Given the description of an element on the screen output the (x, y) to click on. 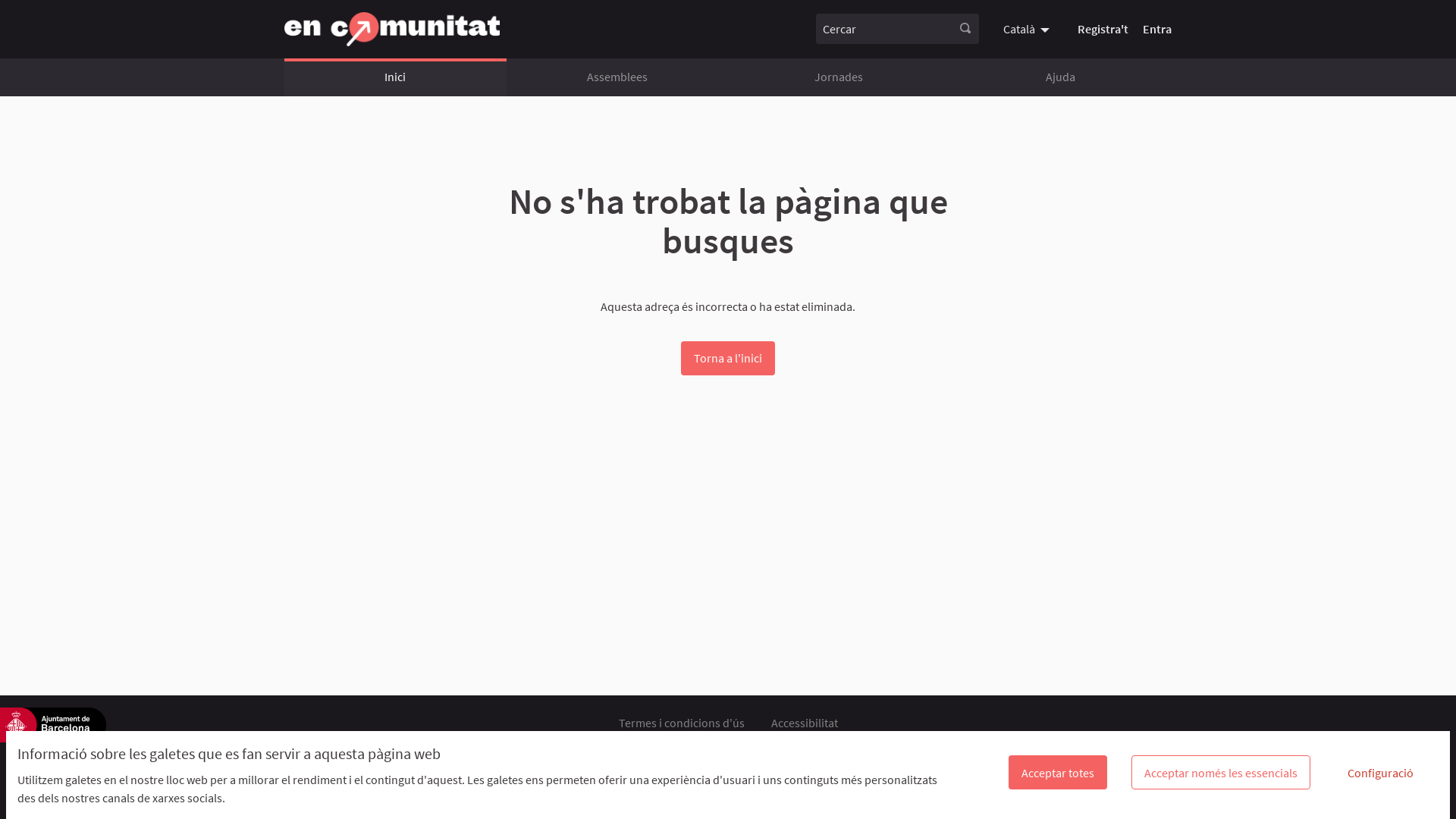
Cercar Element type: hover (883, 28)
Descarrega els fitxers de dades obertes Element type: text (646, 741)
Entra Element type: text (1156, 28)
Cercar Element type: text (965, 28)
Accessibilitat Element type: text (803, 722)
Registra't Element type: text (1102, 28)
Ajuda Element type: text (1060, 77)
Torna a l'inici Element type: text (727, 358)
Acceptar totes Element type: text (1057, 772)
Assemblees Element type: text (617, 77)
Inici Element type: text (395, 77)
Jornades Element type: text (839, 77)
